Given the description of an element on the screen output the (x, y) to click on. 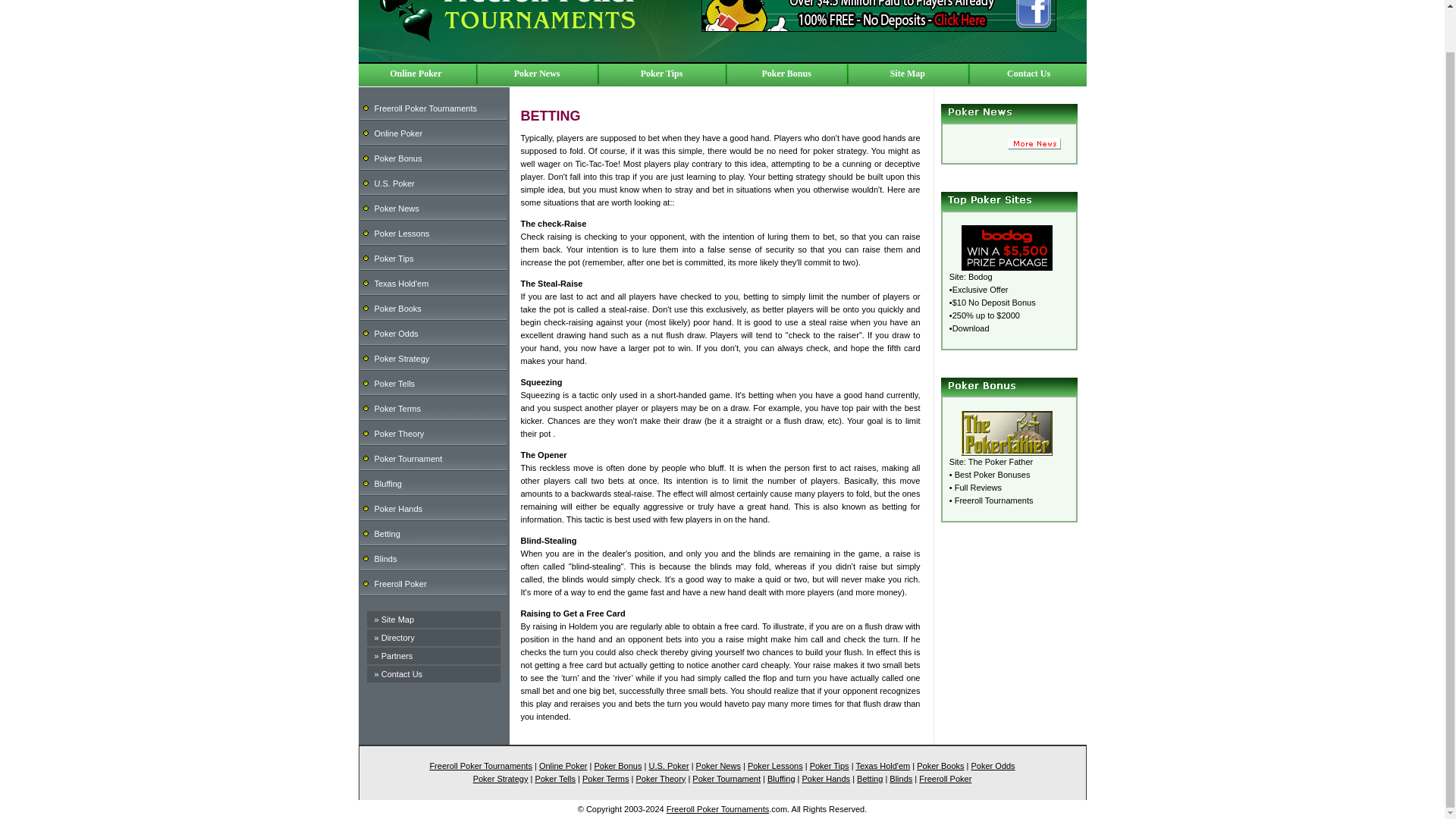
Poker News (396, 207)
Site Map (397, 619)
Poker Strategy (401, 357)
Bodog (980, 276)
Contact Us (1028, 72)
Freeroll Poker Tournaments (425, 107)
Texas Hold'em (401, 283)
Poker Tips (661, 72)
Best Poker Bonuses (992, 474)
Poker Odds (396, 333)
Poker Bonus (398, 157)
Betting (387, 533)
Site Map (906, 72)
Contact Us (401, 673)
The Poker Father (1000, 461)
